Given the description of an element on the screen output the (x, y) to click on. 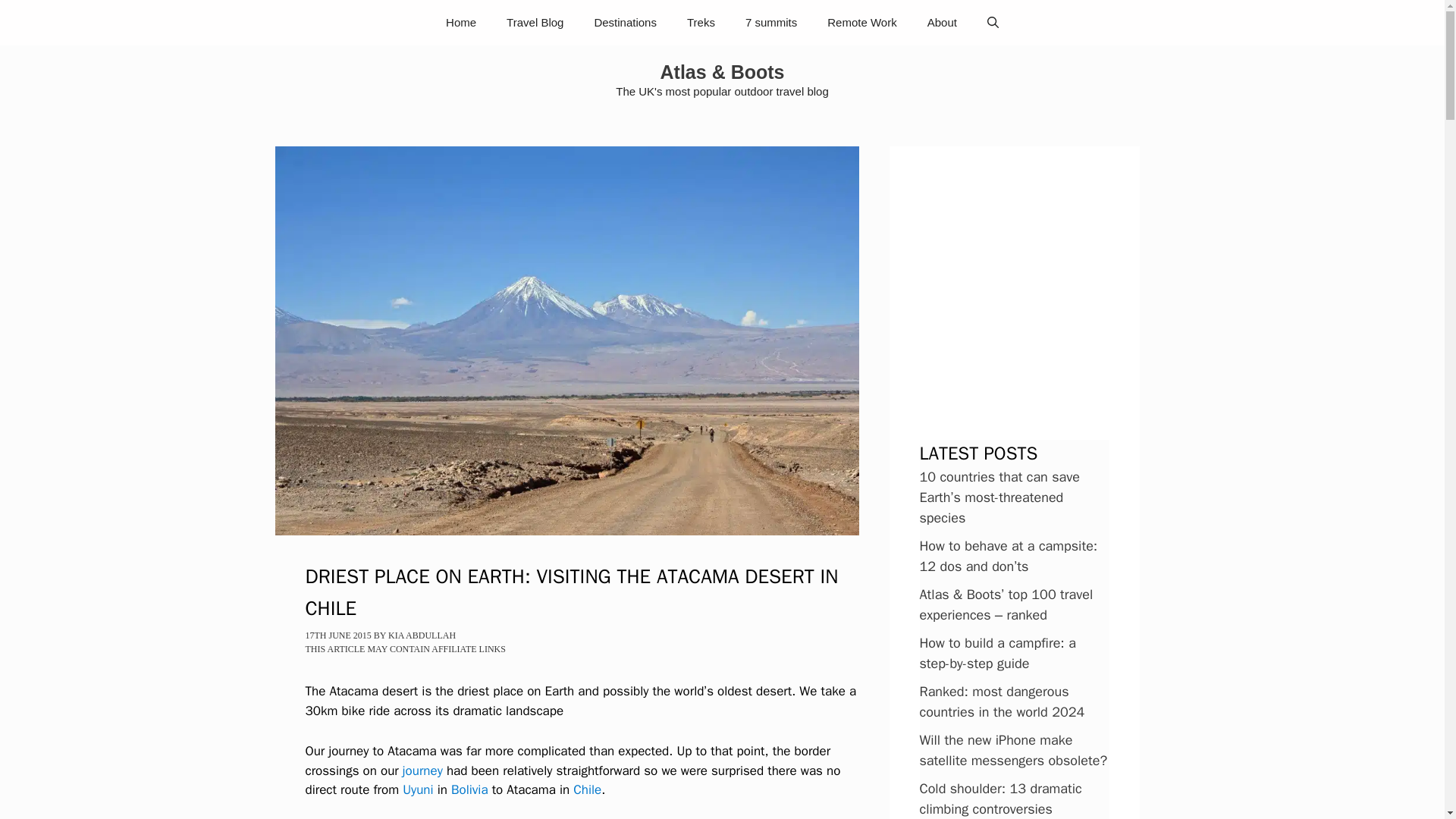
Destinations (624, 22)
About (942, 22)
Travel Blog (535, 22)
AFFILIATE LINKS (467, 648)
Uyuni (417, 789)
Bolivia (469, 789)
Treks (700, 22)
Home (461, 22)
Remote Work (861, 22)
KIA ABDULLAH (421, 634)
